Given the description of an element on the screen output the (x, y) to click on. 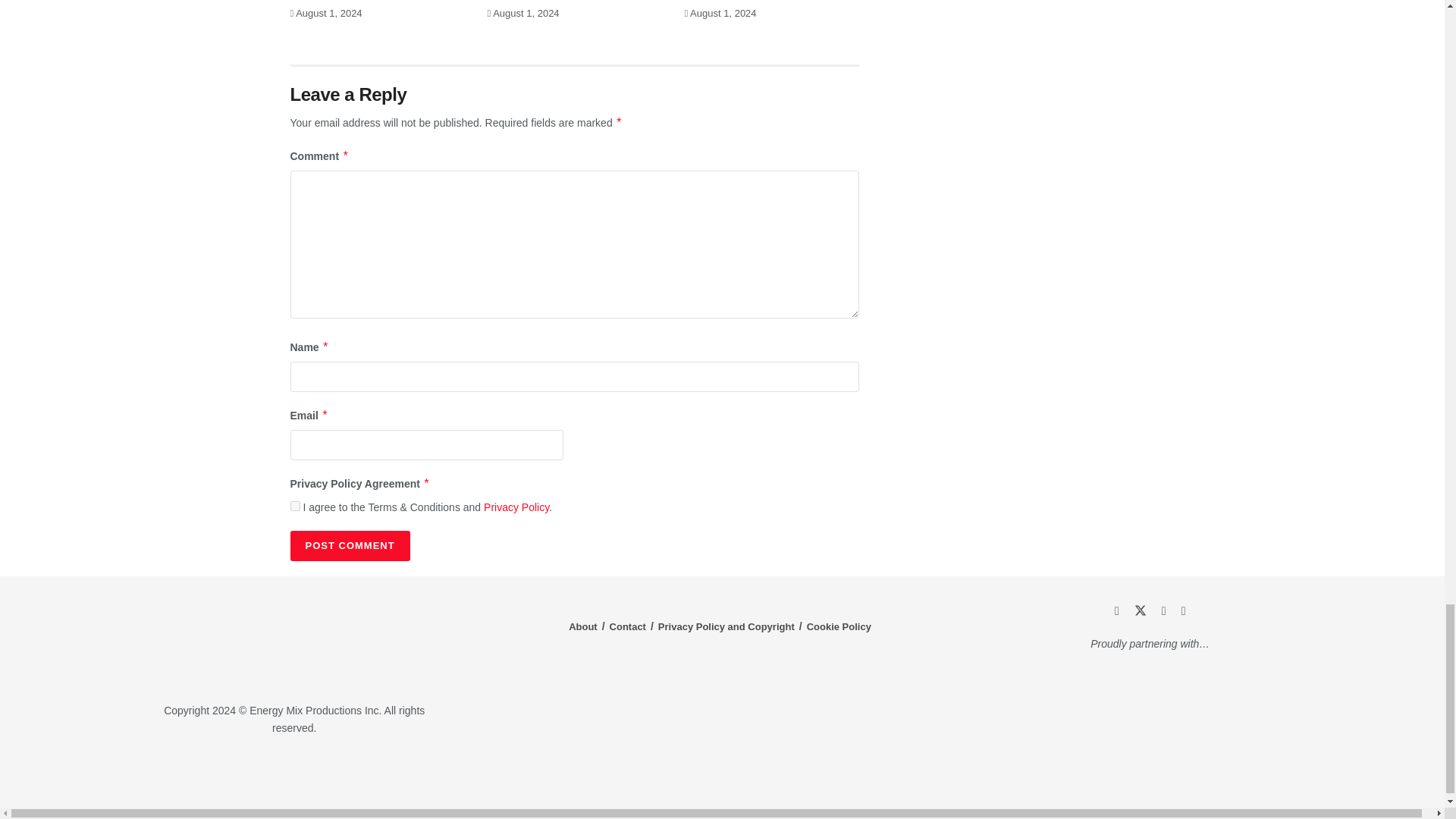
tem-logo-2024 (294, 640)
Post Comment (349, 545)
Climate-and-Capital (1221, 772)
on (294, 506)
